Given the description of an element on the screen output the (x, y) to click on. 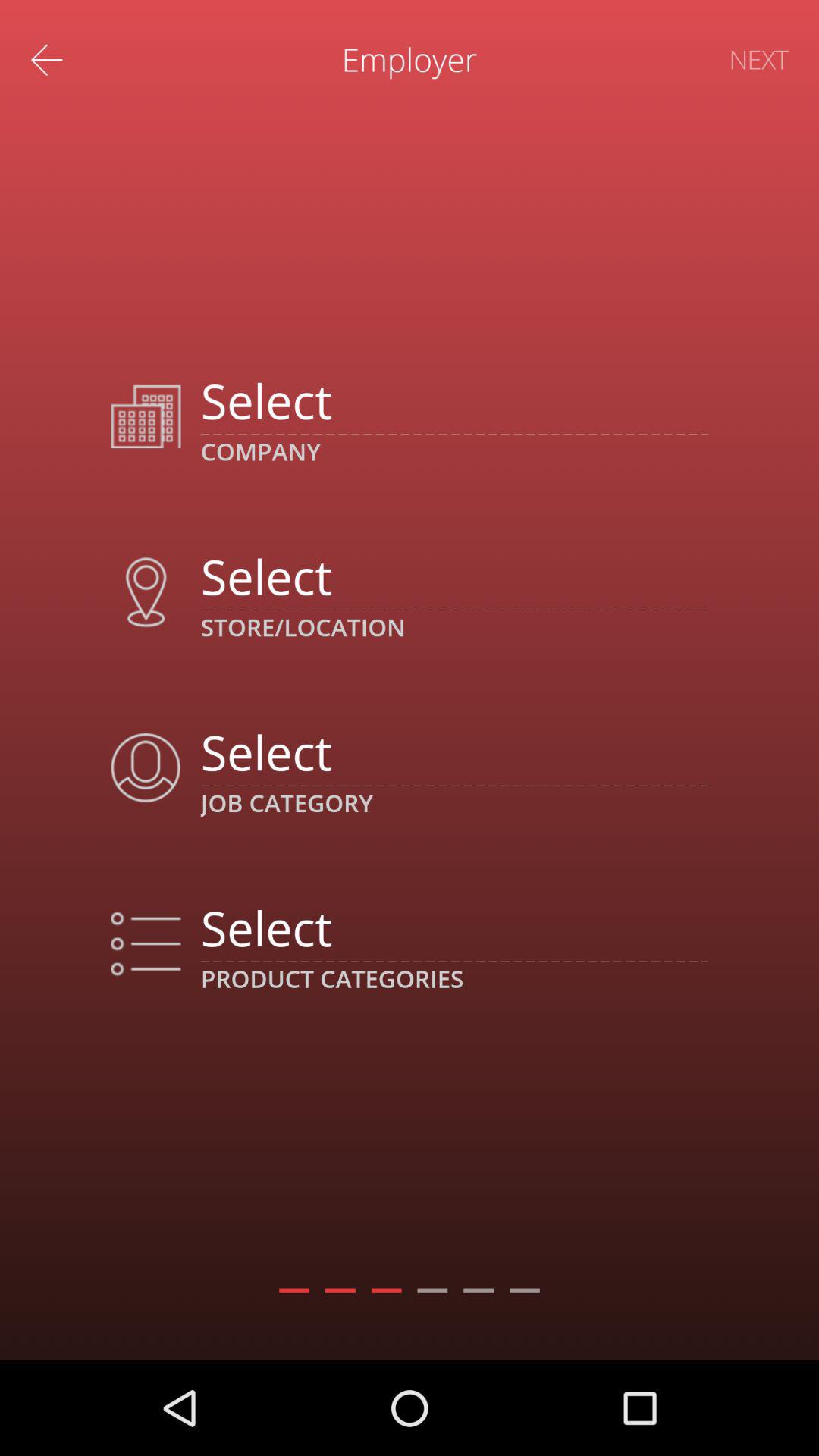
select store/locaton (454, 575)
